Given the description of an element on the screen output the (x, y) to click on. 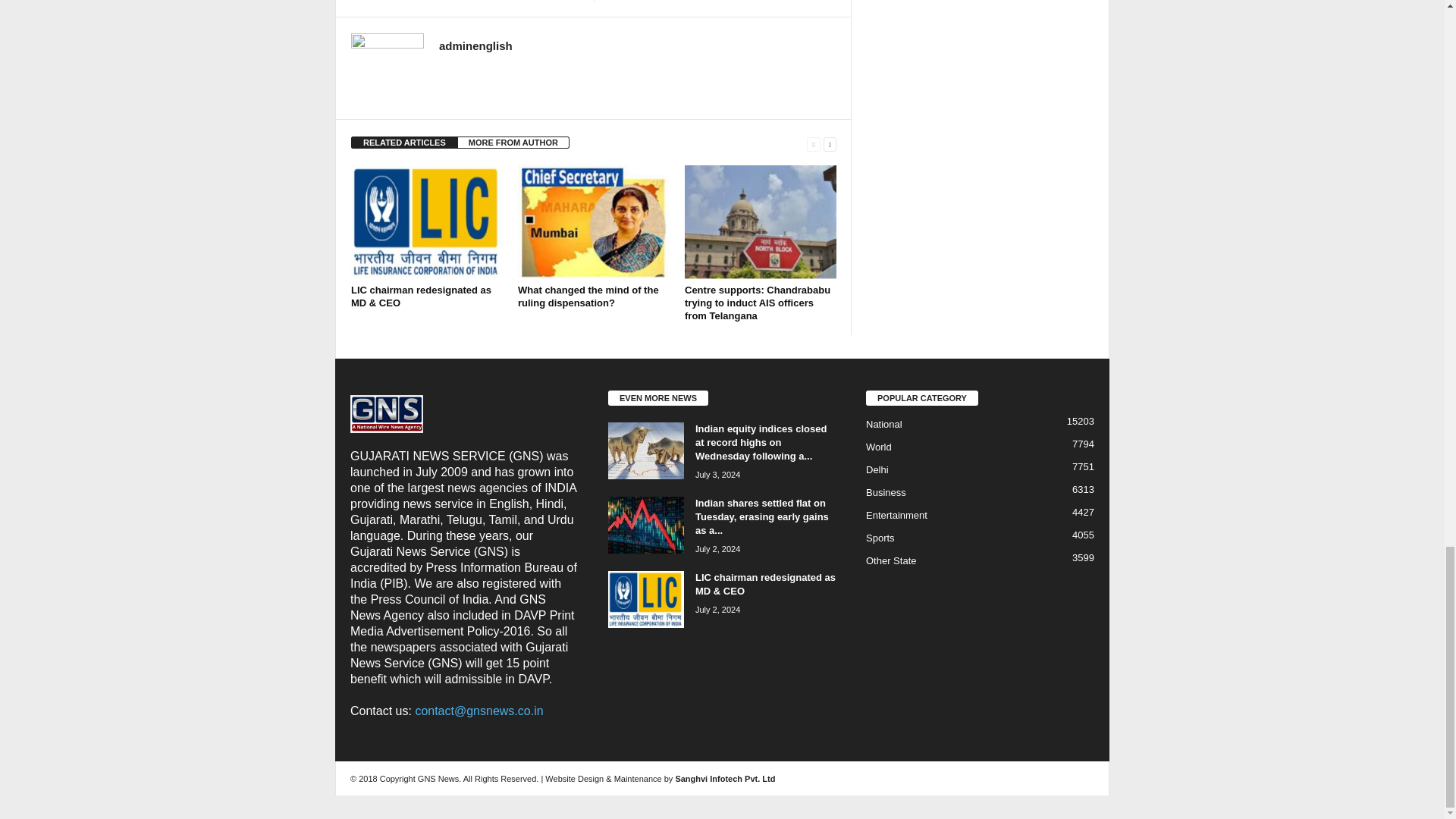
What changed the mind of the ruling dispensation? (593, 222)
What changed the mind of the ruling dispensation? (588, 296)
